Given the description of an element on the screen output the (x, y) to click on. 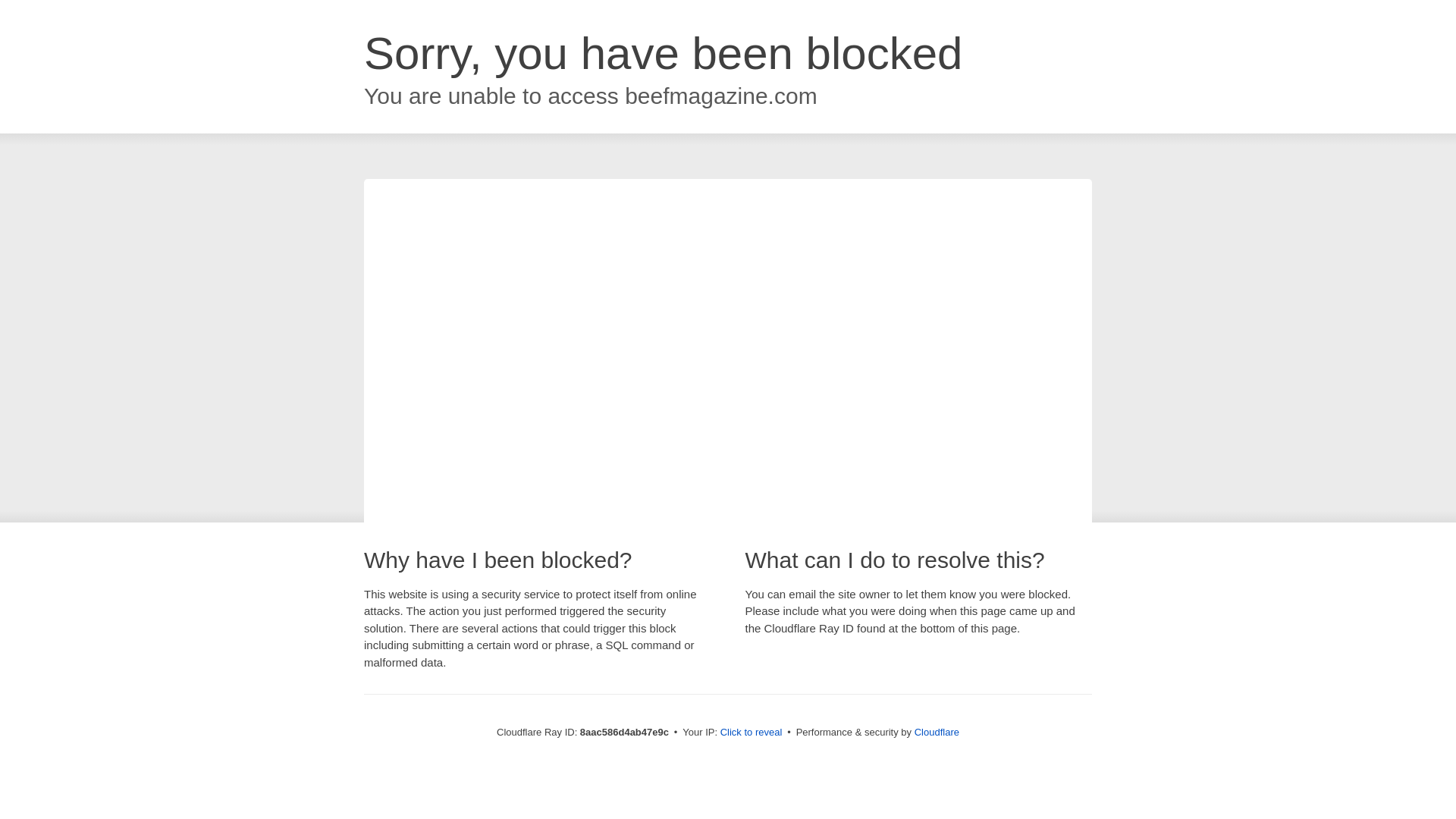
Click to reveal (751, 732)
Cloudflare (936, 731)
